Given the description of an element on the screen output the (x, y) to click on. 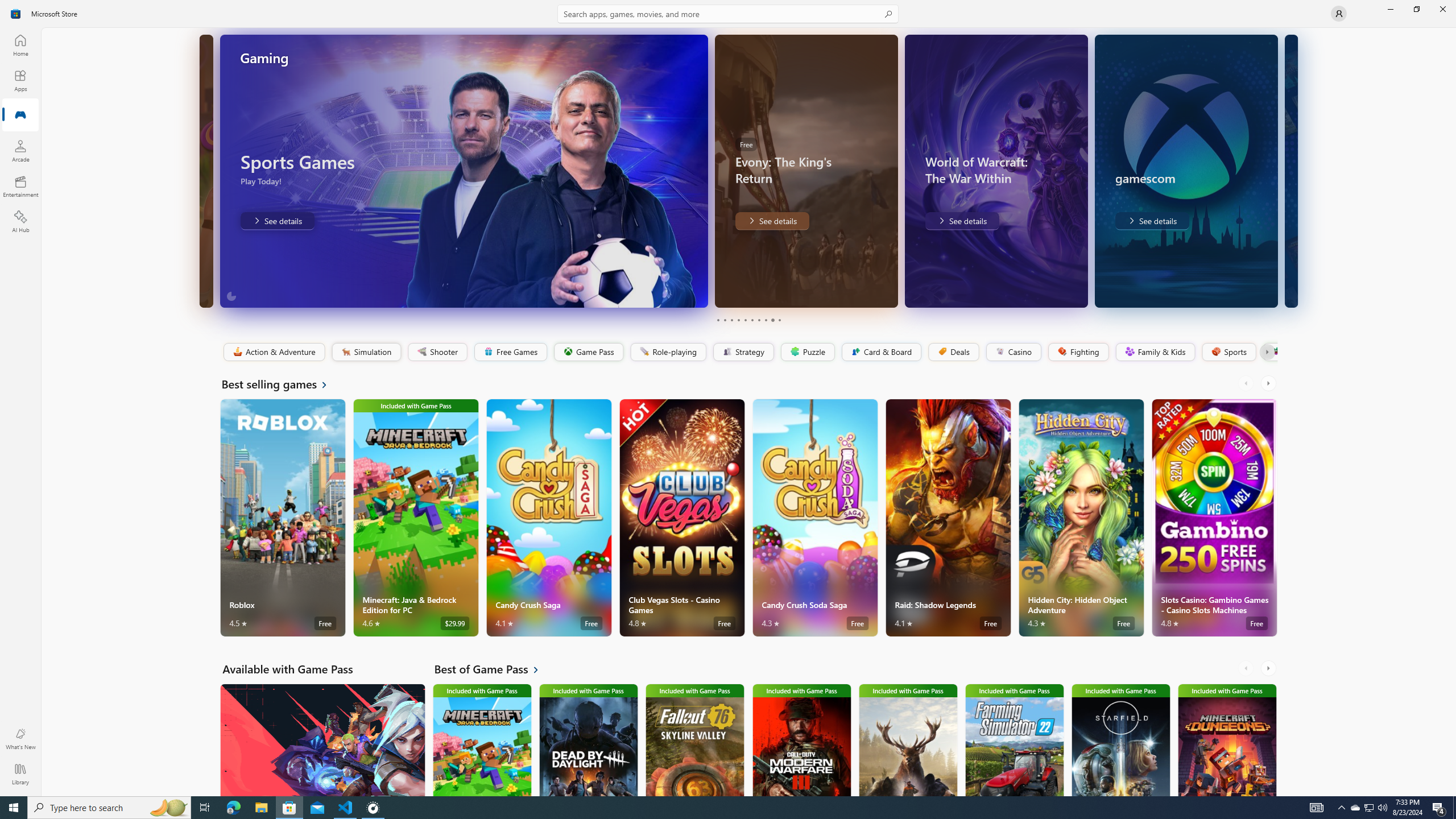
Play Trailer (858, 291)
Page 10 (779, 319)
Apps (20, 80)
gamescom. See the best of the show.  . See details (1151, 221)
Shooter (436, 352)
Game Pass (588, 352)
Puzzle (807, 352)
Arcade (20, 150)
Class: Image (1274, 351)
